Given the description of an element on the screen output the (x, y) to click on. 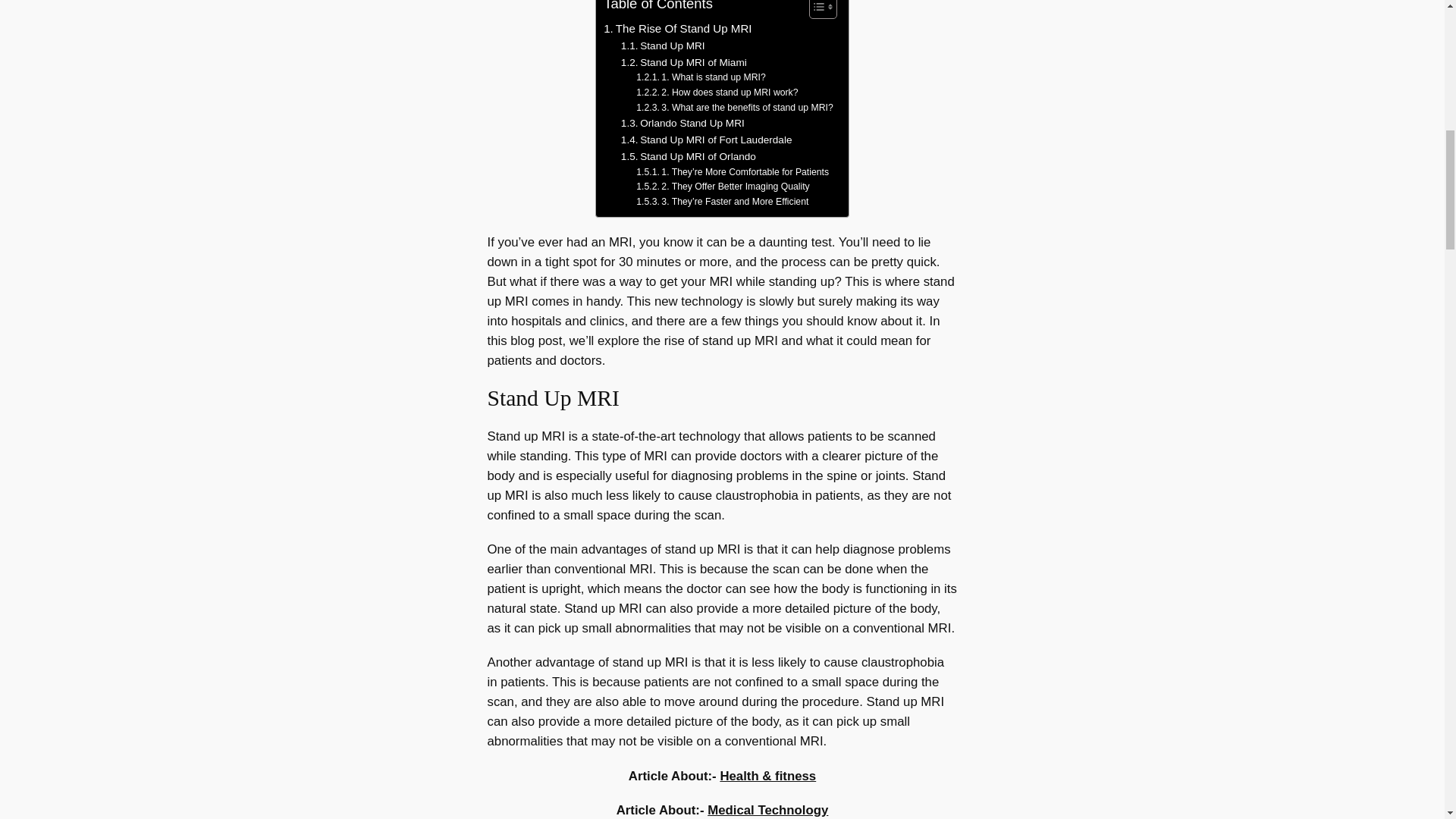
2. They Offer Better Imaging Quality (722, 186)
Stand Up MRI (662, 45)
Medical Technology (767, 810)
Stand Up MRI of Fort Lauderdale (706, 139)
The Rise Of Stand Up MRI (677, 28)
Stand Up MRI (662, 45)
Orlando Stand Up MRI (682, 123)
1. What is stand up MRI? (700, 77)
3. What are the benefits of stand up MRI? (734, 108)
2. How does stand up MRI work? (716, 92)
